Given the description of an element on the screen output the (x, y) to click on. 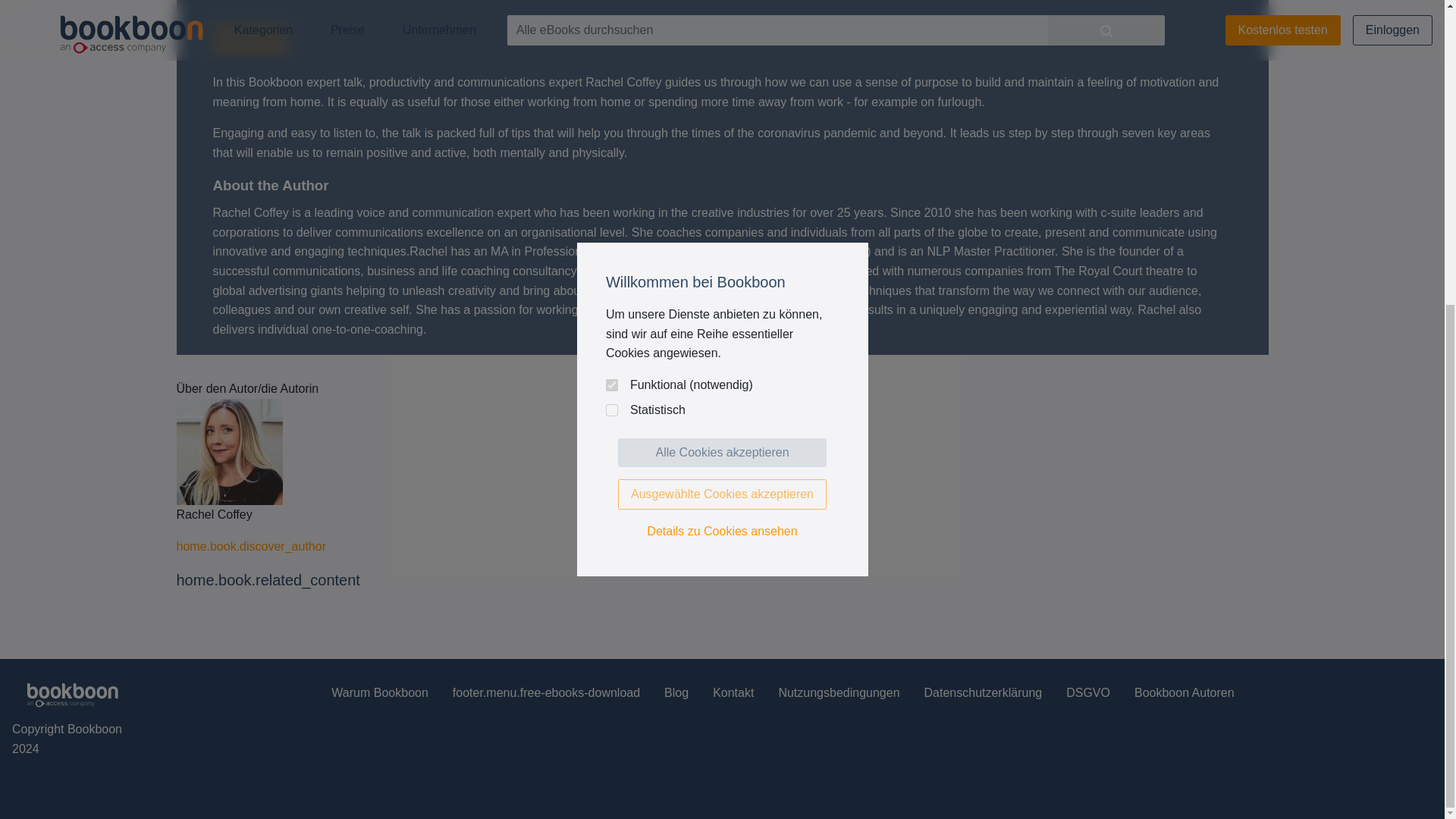
Details zu Cookies ansehen (722, 53)
